Given the description of an element on the screen output the (x, y) to click on. 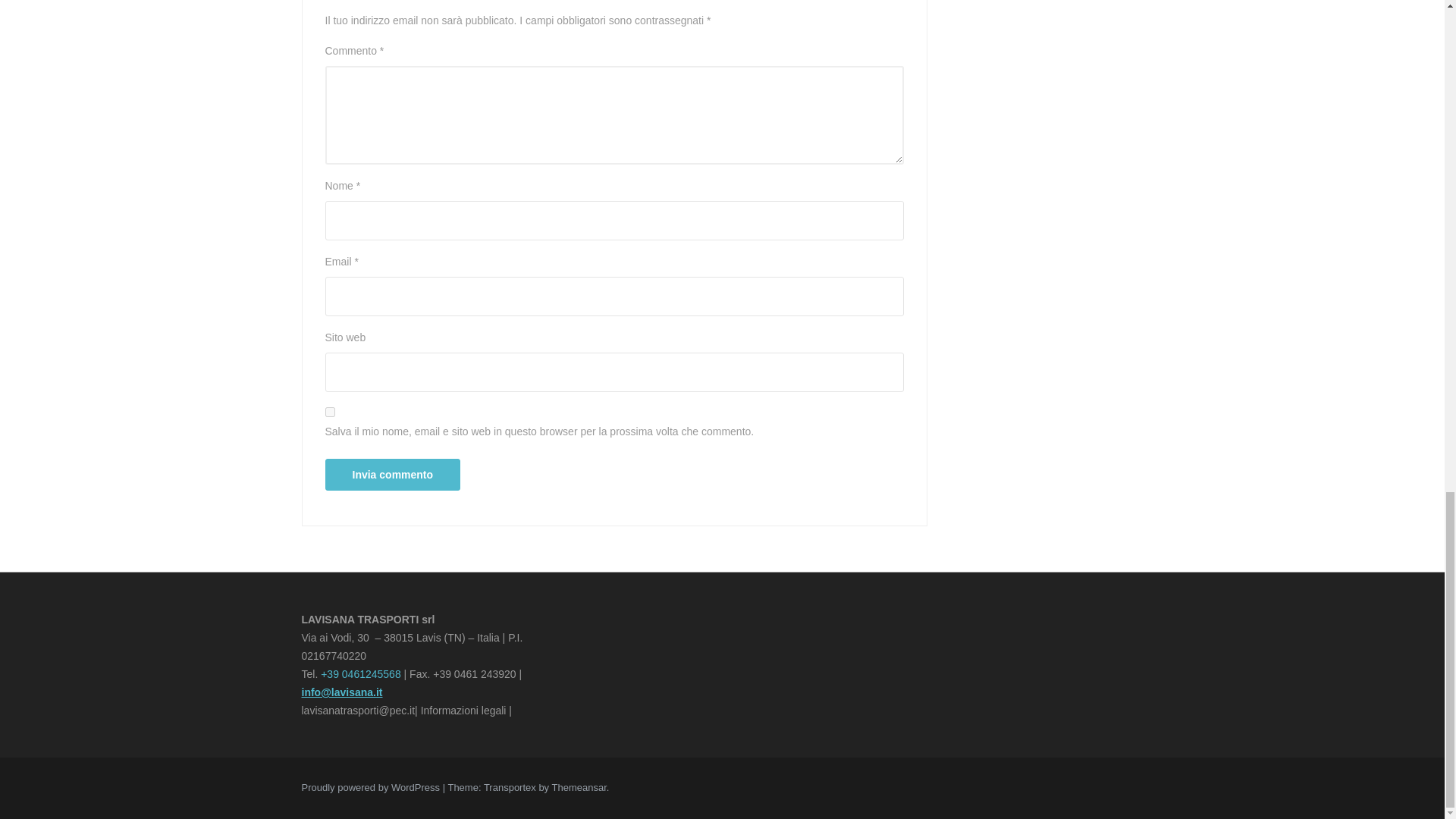
Themeansar (579, 787)
Invia commento (392, 474)
Informazioni legali (463, 710)
yes (329, 411)
Invia commento (392, 474)
Proudly powered by WordPress (371, 787)
e.mail (343, 692)
